Given the description of an element on the screen output the (x, y) to click on. 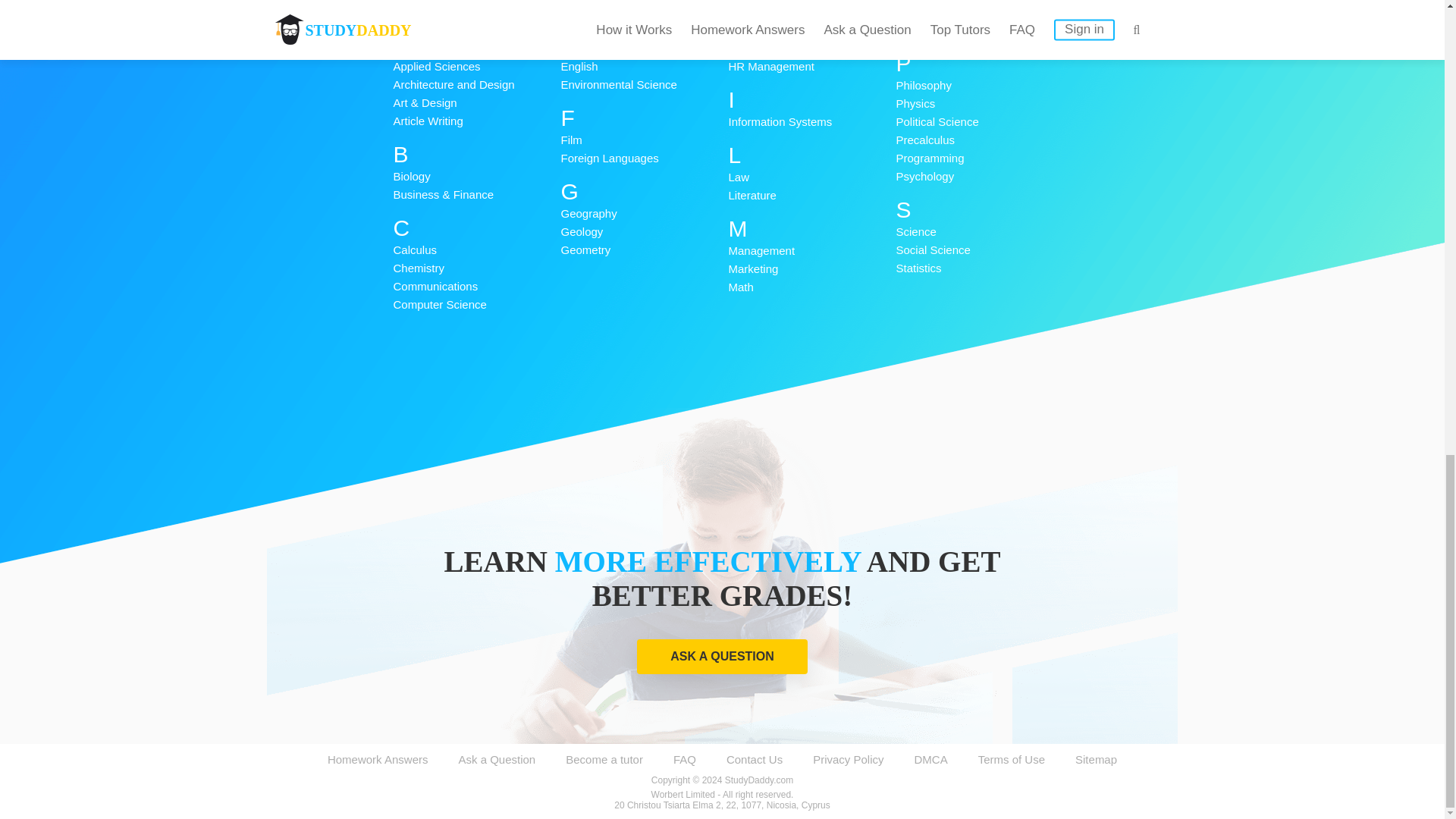
DMCA (930, 758)
Architecture and Design (476, 85)
Communications (476, 286)
Contact Us (754, 758)
Privacy Policy (847, 758)
Homework Answers (377, 758)
Biology (476, 176)
Terms of Use (1011, 758)
English (644, 66)
Sitemap (1095, 758)
Ask a Question (496, 758)
Become a tutor (604, 758)
Environmental Science (644, 85)
Accounting (476, 30)
Economics (644, 30)
